Given the description of an element on the screen output the (x, y) to click on. 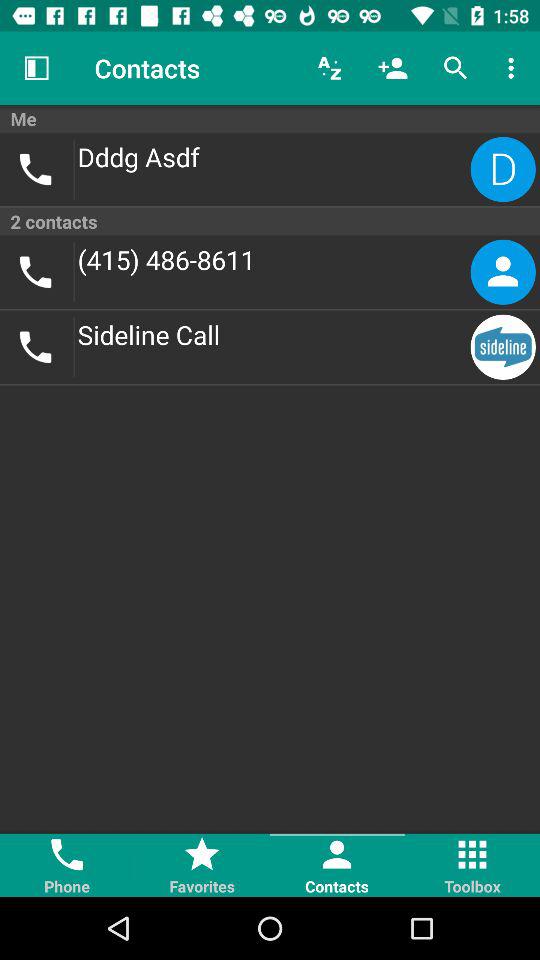
turn on icon next to the contacts item (329, 67)
